Given the description of an element on the screen output the (x, y) to click on. 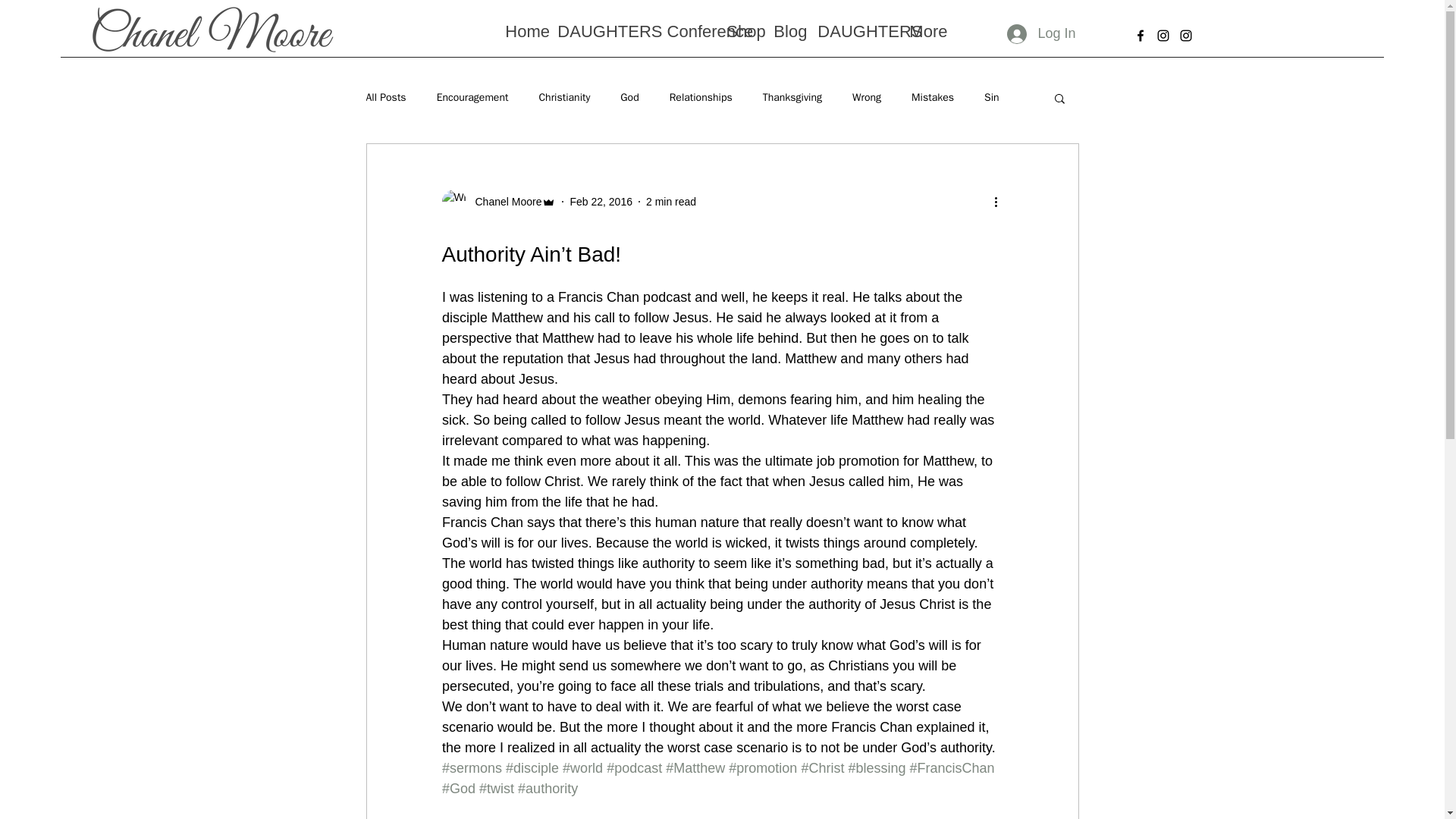
Home (523, 31)
Wrong (865, 97)
Relationships (700, 97)
Thanksgiving (792, 97)
DAUGHTERS (855, 31)
Mistakes (932, 97)
God (629, 97)
DAUGHTERS Conference (634, 31)
All Posts (385, 97)
Log In (1040, 33)
Sin (991, 97)
Shop (742, 31)
2 min read (670, 201)
Chanel Moore (503, 201)
Encouragement (472, 97)
